Given the description of an element on the screen output the (x, y) to click on. 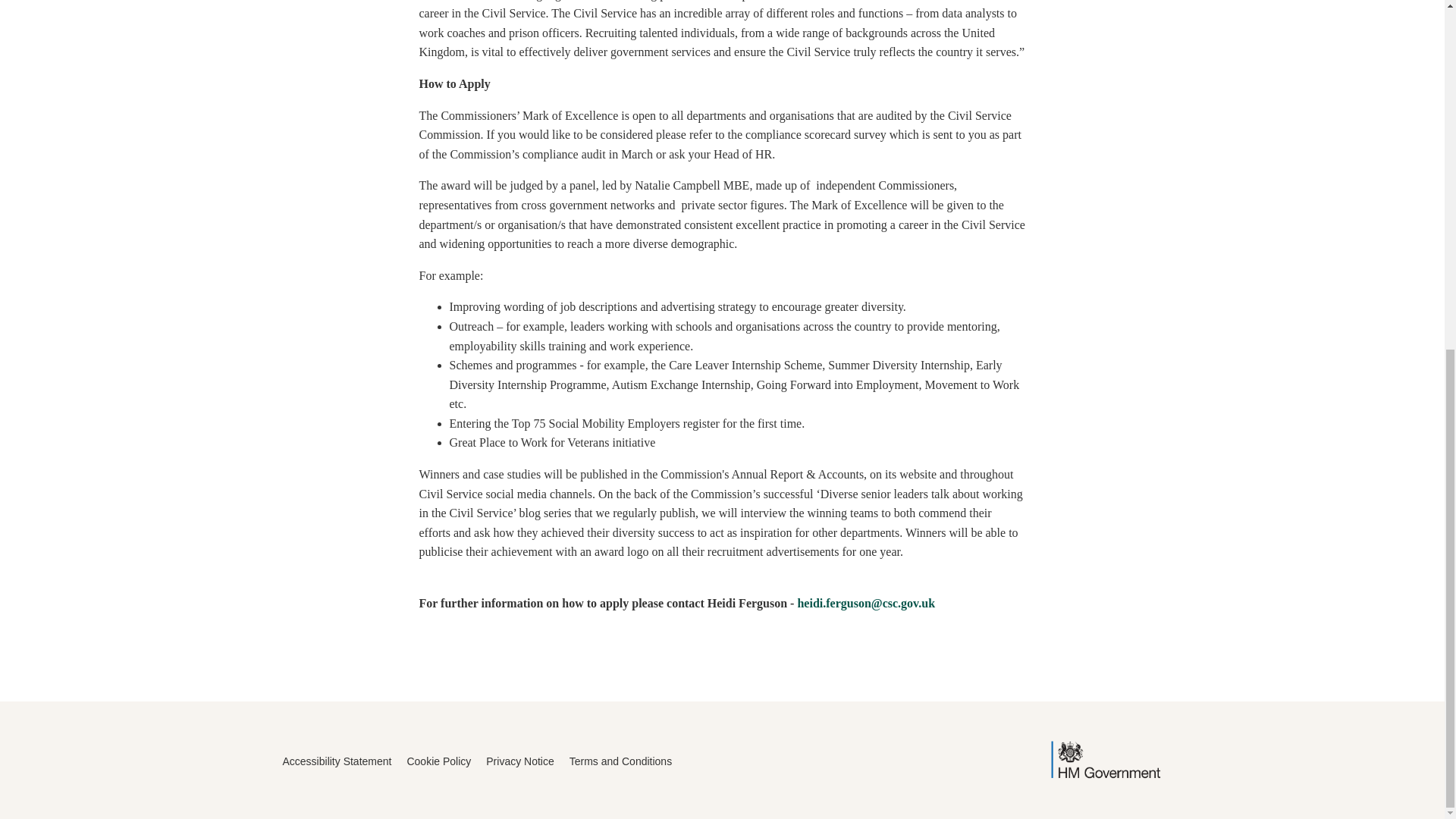
Privacy Notice (519, 760)
Accessibility Statement (336, 760)
Cookie Policy (438, 760)
Terms and Conditions (620, 760)
